Given the description of an element on the screen output the (x, y) to click on. 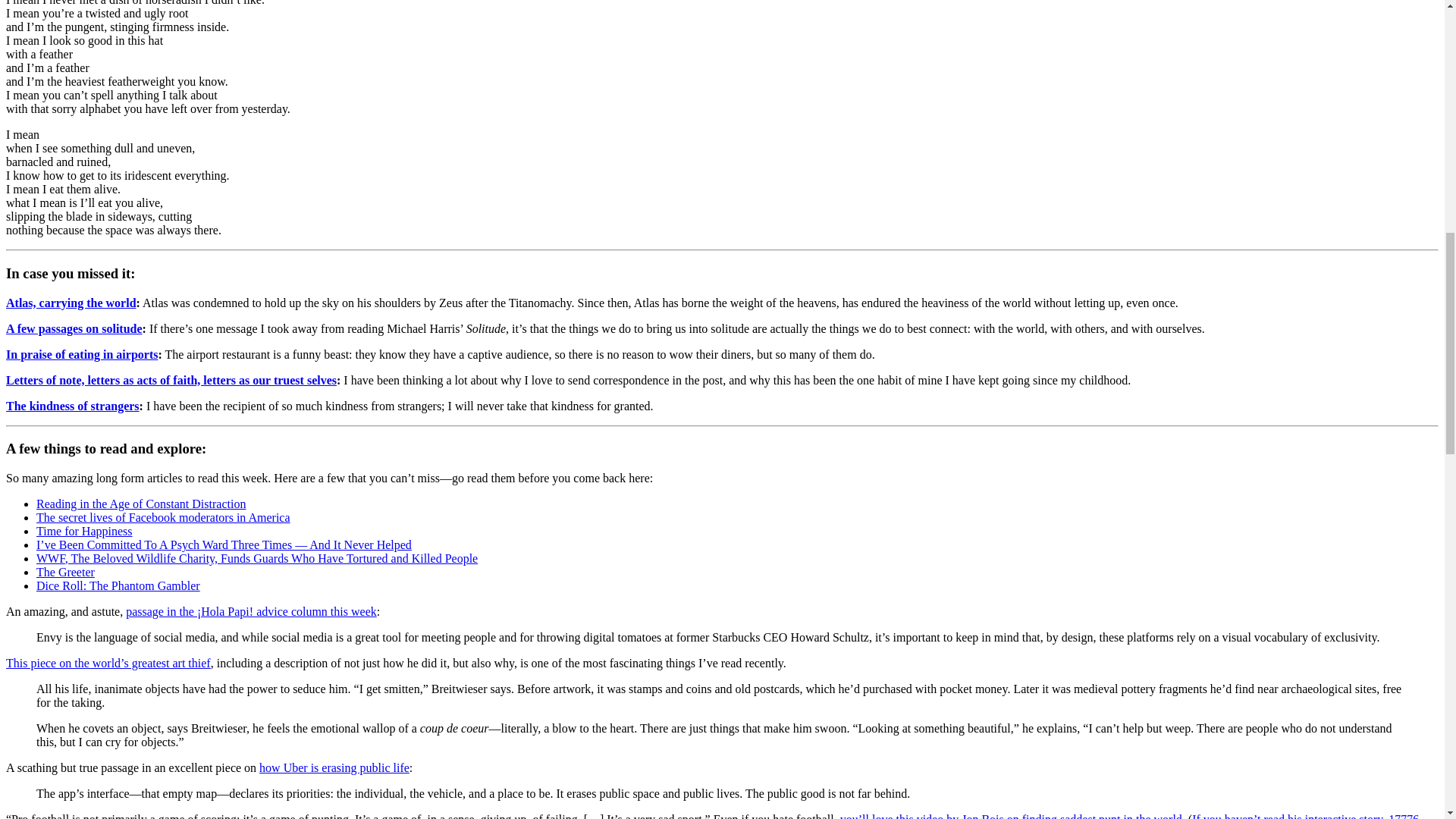
how Uber is erasing public life (334, 767)
A few passages on solitude (73, 328)
Dice Roll: The Phantom Gambler (118, 585)
Atlas, carrying the world (70, 302)
The secret lives of Facebook moderators in America (162, 517)
The kindness of strangers (72, 405)
The Greeter (65, 571)
In praise of eating in airports (81, 354)
